Given the description of an element on the screen output the (x, y) to click on. 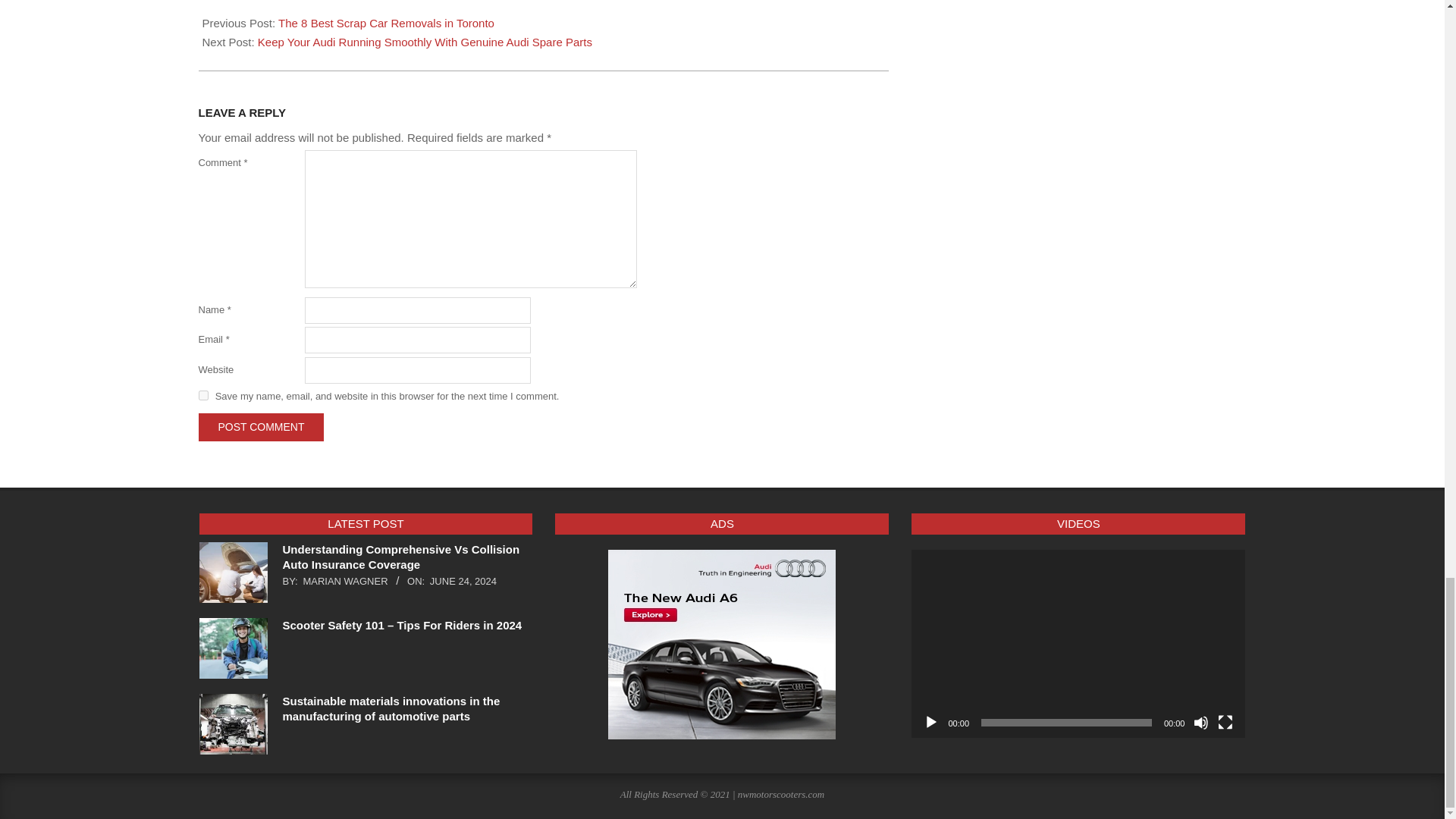
Monday, June 24, 2024, 8:09 am (462, 581)
Post Comment (261, 427)
Mute (1200, 722)
Posts by Marian Wagner (344, 581)
Fullscreen (1225, 722)
Play (931, 722)
yes (203, 395)
